Given the description of an element on the screen output the (x, y) to click on. 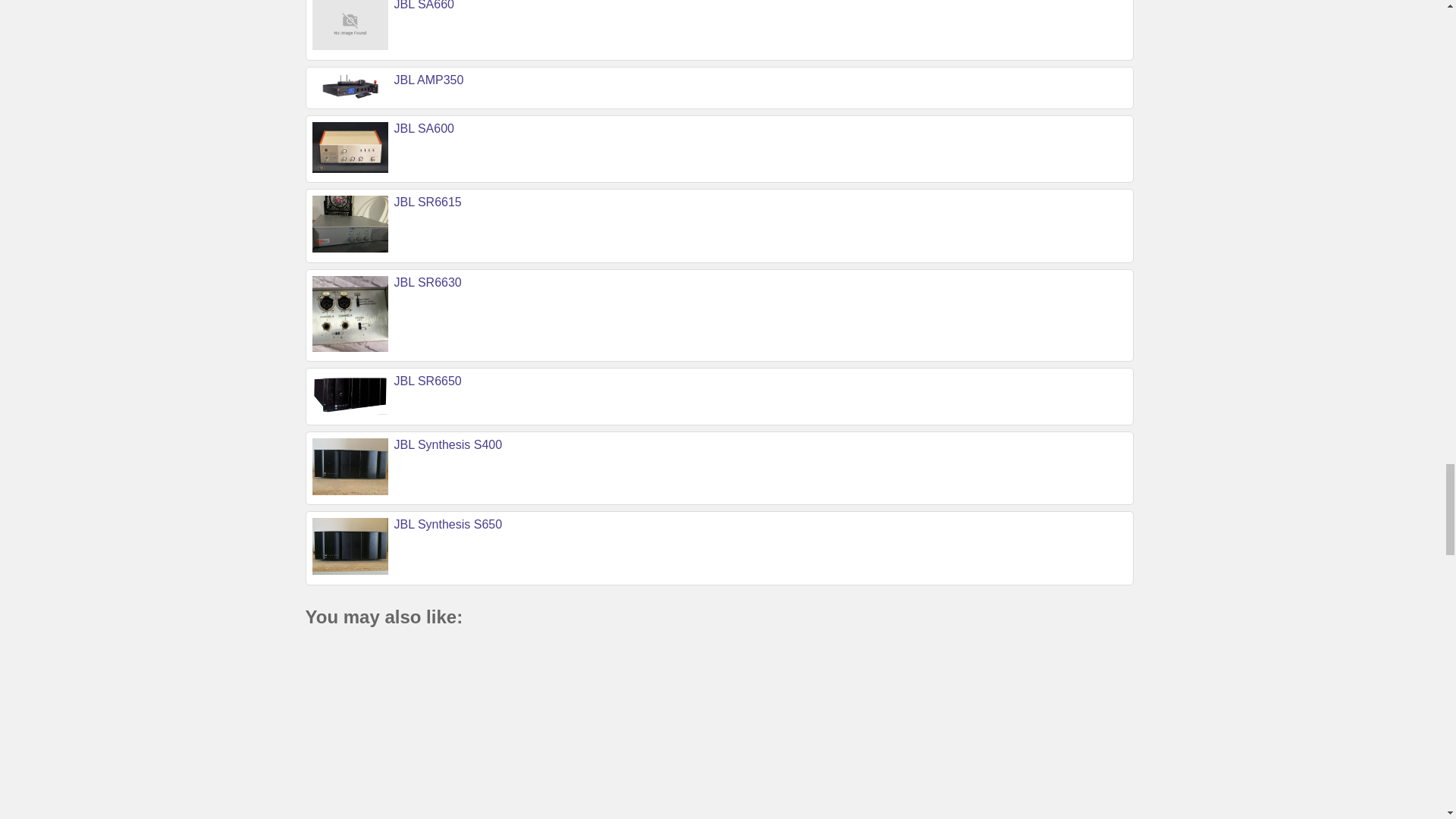
JBL SA600 (424, 128)
JBL SR6630 (427, 282)
JBL Synthesis S650 (448, 523)
JBL Synthesis S400 (448, 444)
JBL SR6650 (427, 380)
JBL AMP350 (429, 79)
JBL SR6615 (427, 201)
JBL SA660 (424, 5)
